Given the description of an element on the screen output the (x, y) to click on. 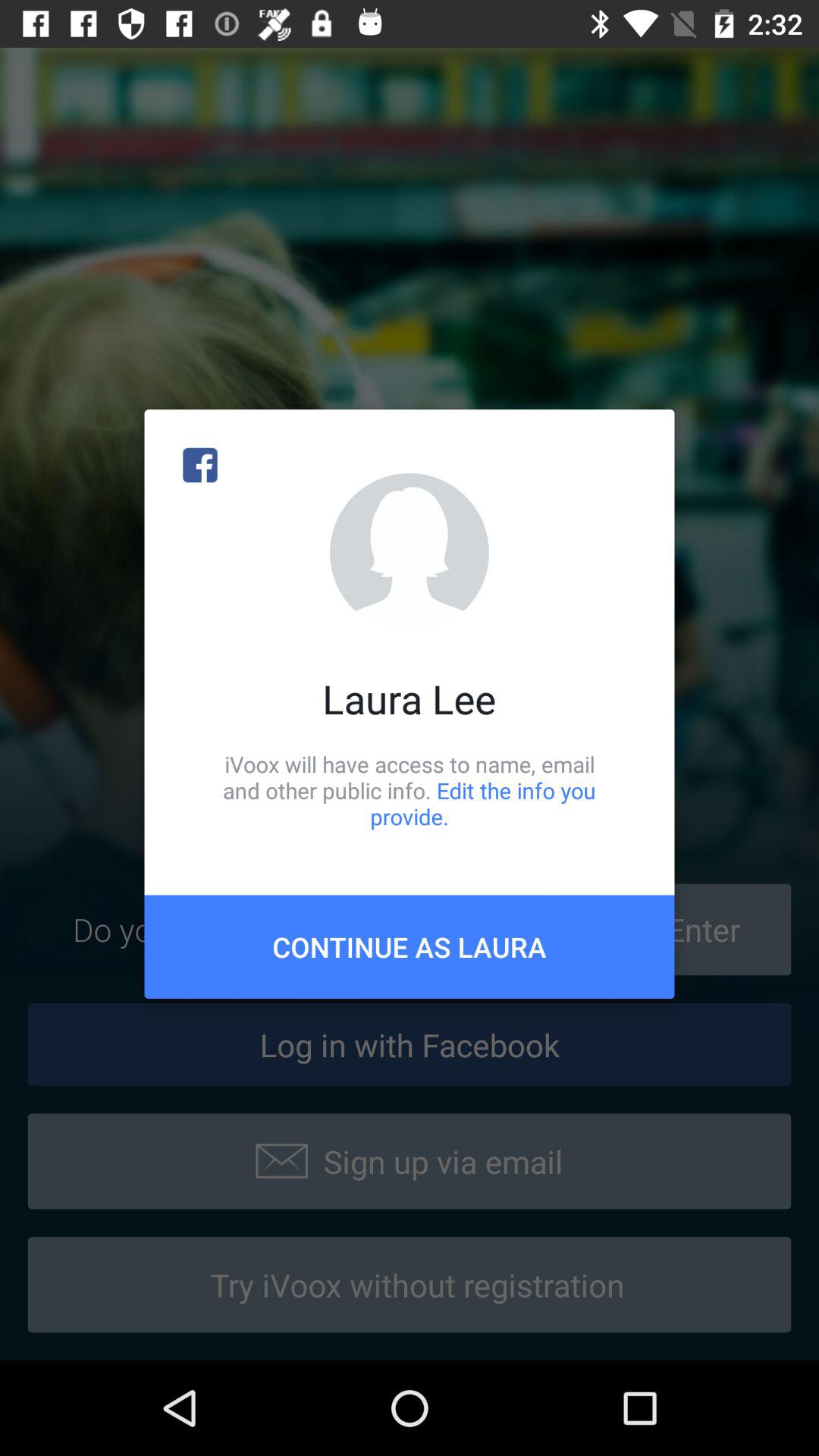
choose continue as laura icon (409, 946)
